Given the description of an element on the screen output the (x, y) to click on. 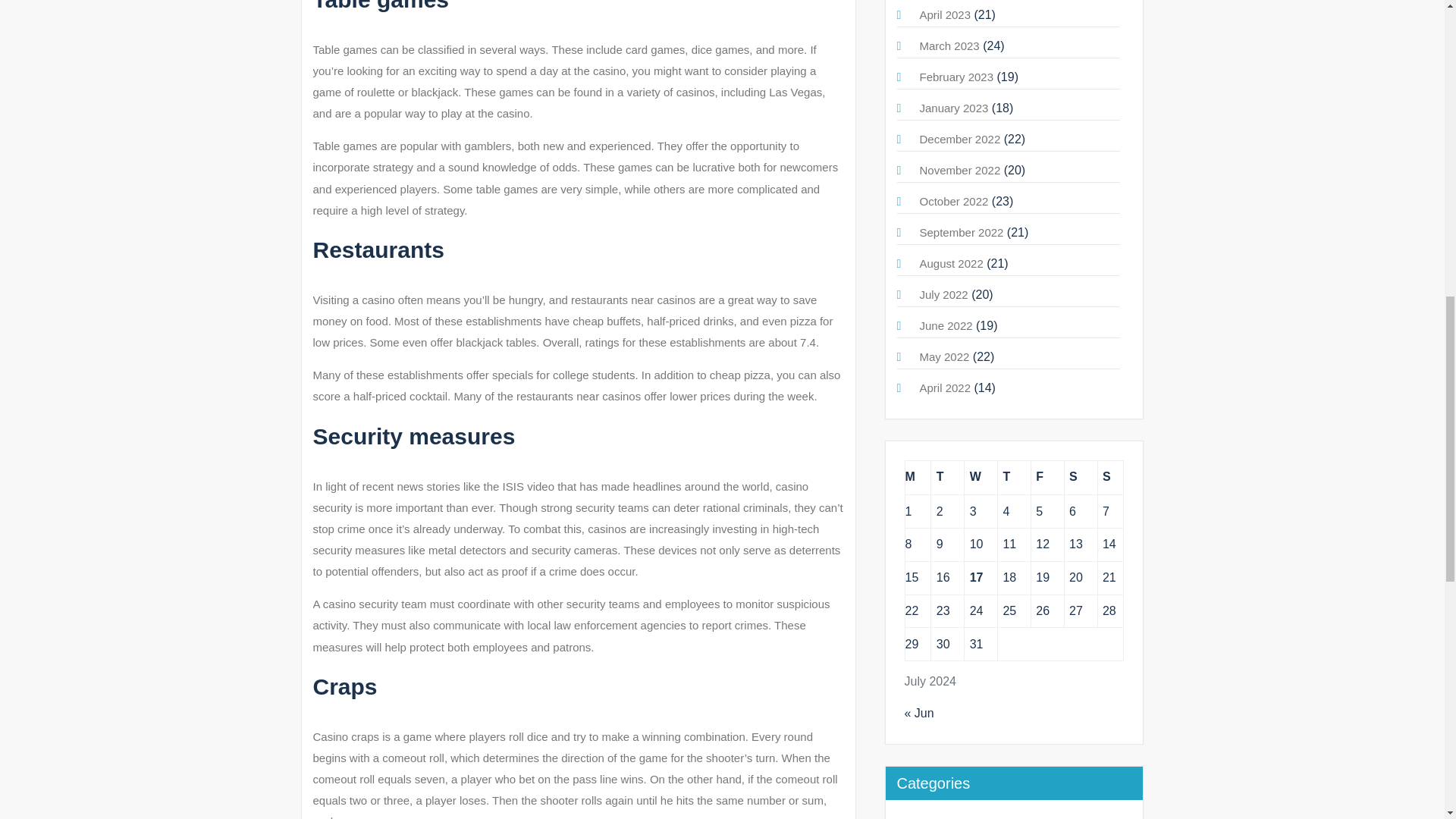
September 2022 (960, 232)
April 2022 (944, 387)
June 2022 (945, 325)
Wednesday (980, 477)
August 2022 (950, 263)
Tuesday (947, 477)
July 2022 (943, 294)
February 2023 (955, 76)
January 2023 (953, 107)
March 2023 (948, 45)
November 2022 (959, 169)
Friday (1047, 477)
October 2022 (953, 201)
April 2023 (944, 14)
Thursday (1013, 477)
